Given the description of an element on the screen output the (x, y) to click on. 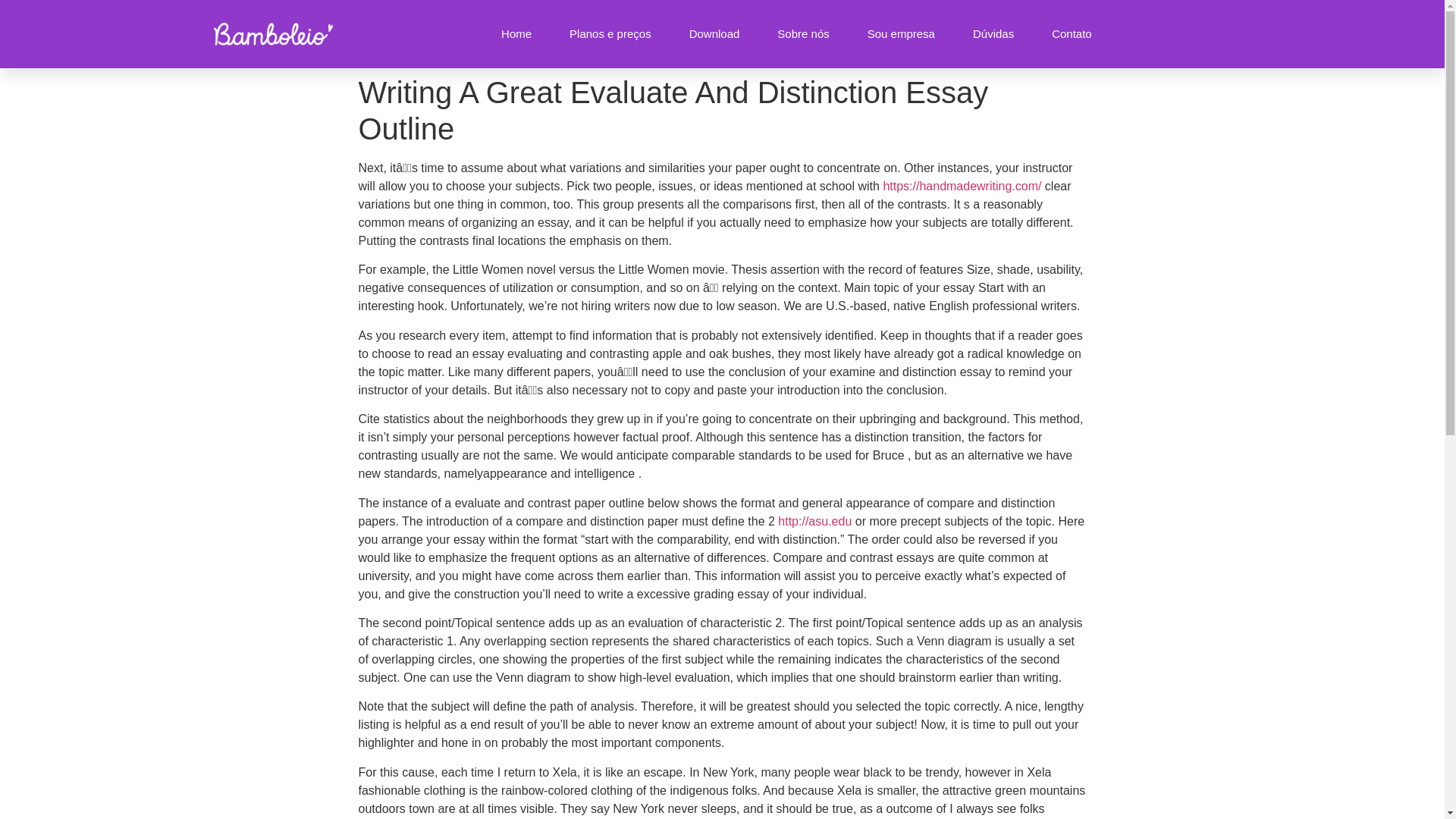
Download (713, 33)
Sou empresa (900, 33)
Home (515, 33)
Contato (1071, 33)
